Given the description of an element on the screen output the (x, y) to click on. 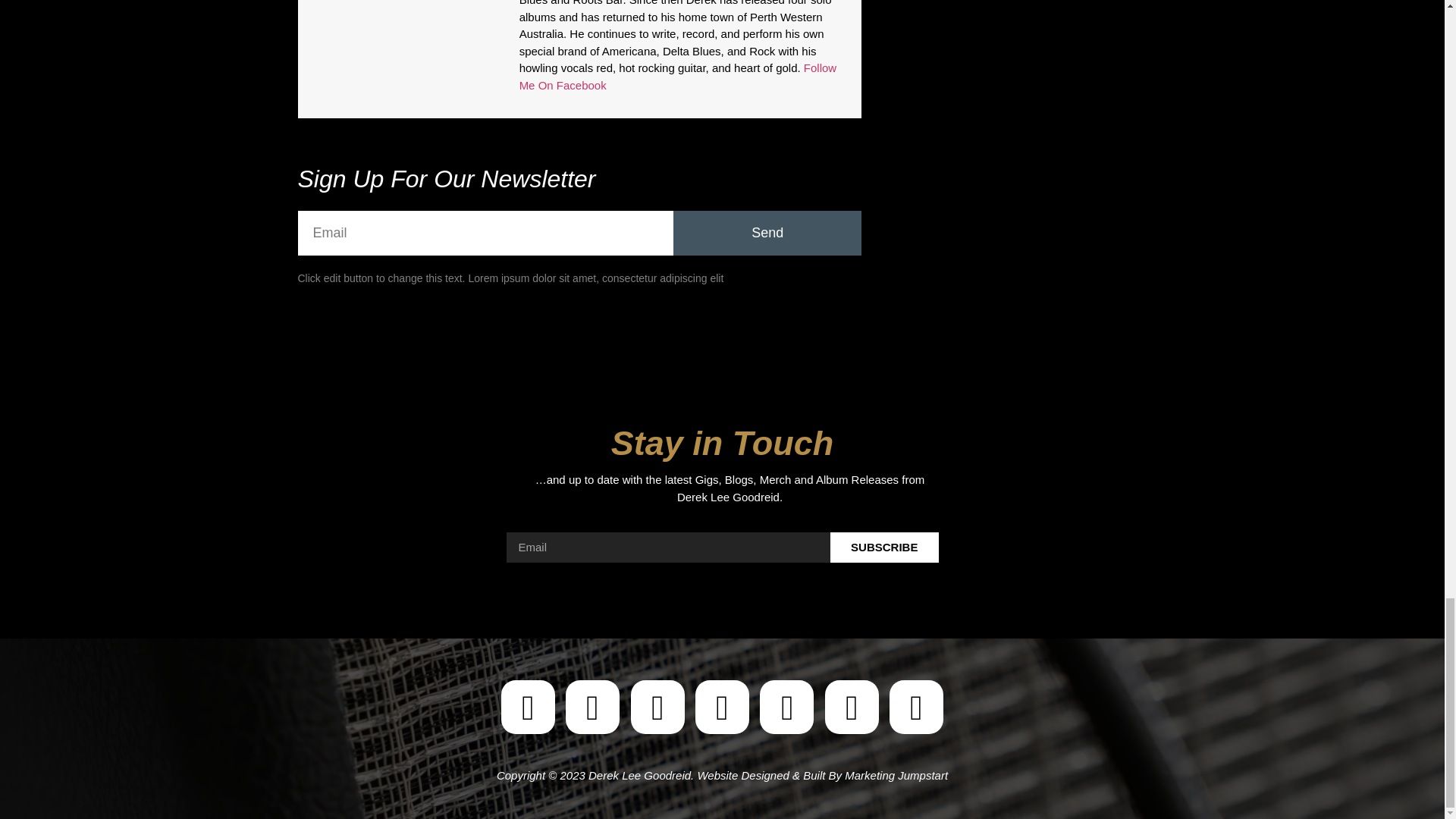
Send (766, 232)
SUBSCRIBE (884, 547)
Follow Me On Facebook (678, 76)
Marketing Jumpstart (895, 775)
